Given the description of an element on the screen output the (x, y) to click on. 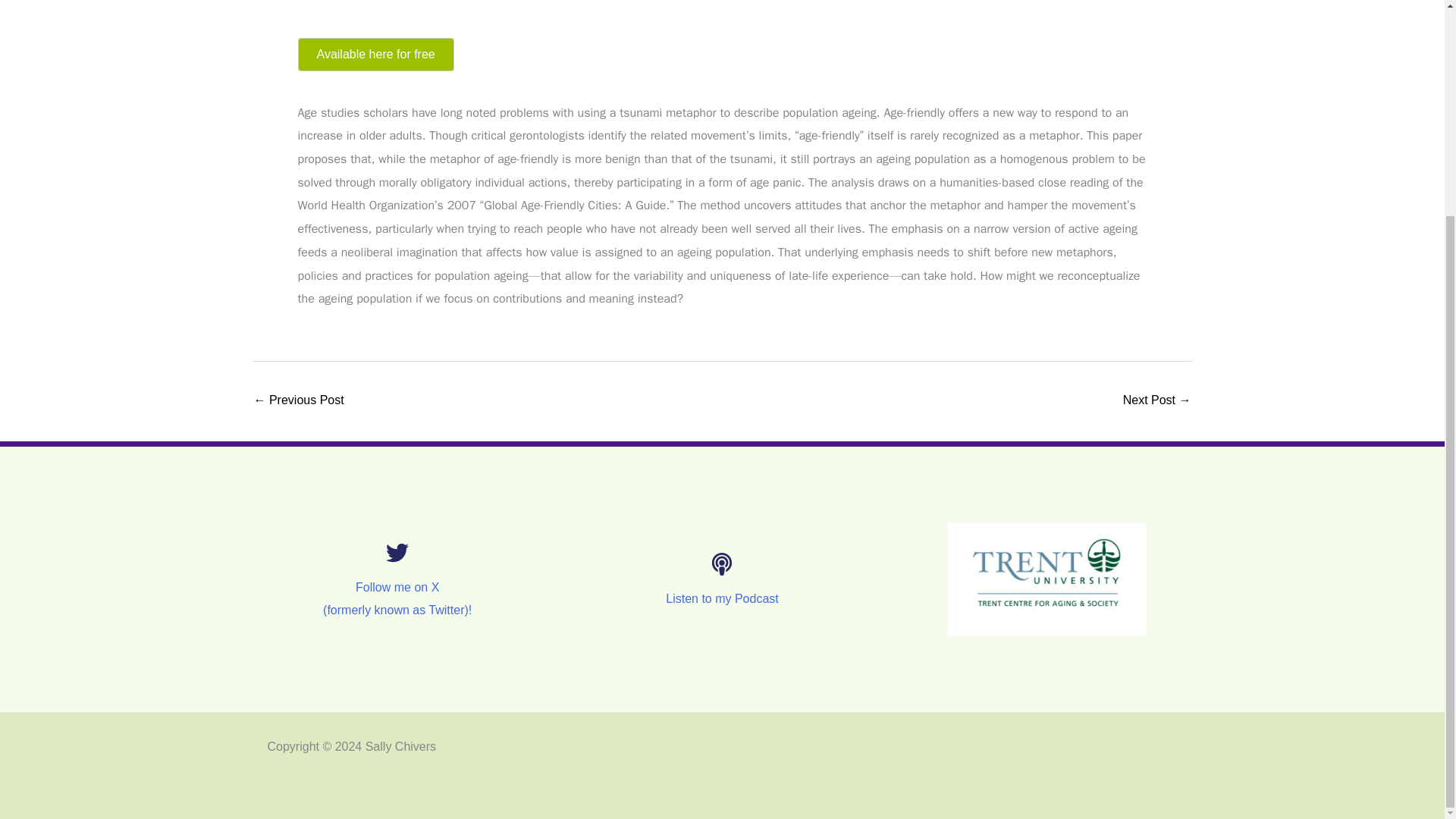
Listen to my Podcast (721, 598)
Available here for free (374, 54)
Episode 1: The Power of Greyscale (1156, 401)
Archived Academic Articles (298, 401)
